Given the description of an element on the screen output the (x, y) to click on. 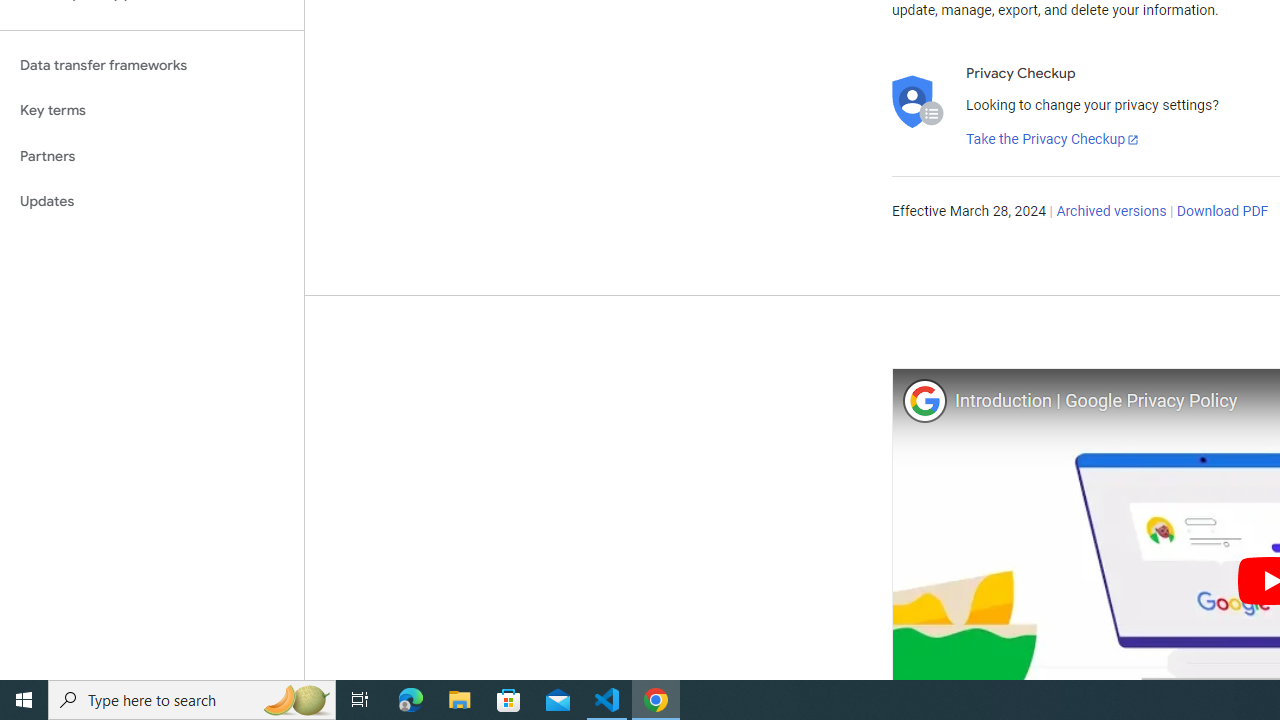
Photo image of Google (924, 400)
Take the Privacy Checkup (1053, 140)
